Given the description of an element on the screen output the (x, y) to click on. 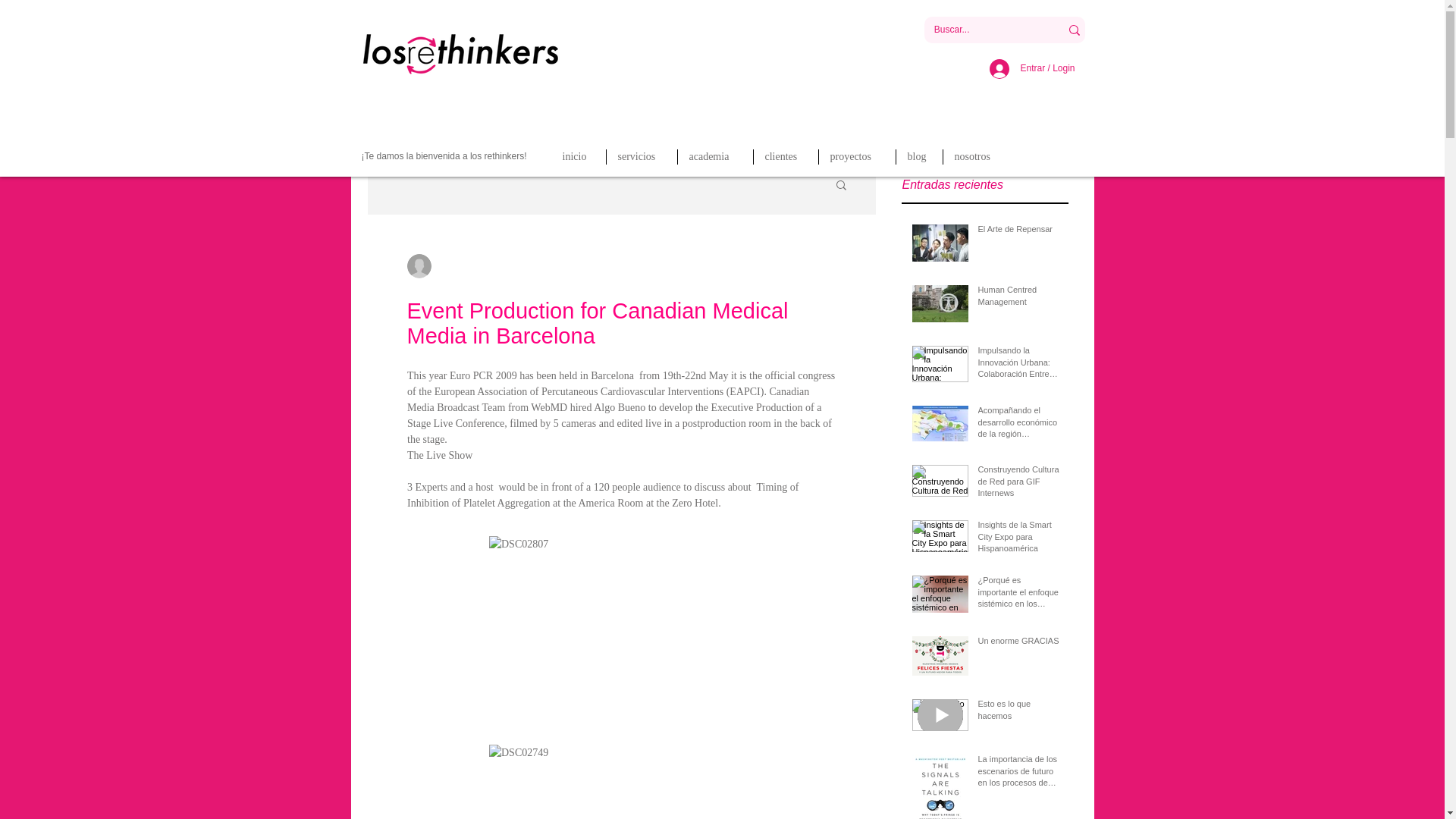
servicios (642, 156)
proyectos (856, 156)
Human Centred Management (1018, 298)
nosotros (977, 156)
El Arte de Repensar (1018, 231)
blog (919, 156)
academia (715, 156)
Construyendo Cultura de Red para GIF Internews (1018, 484)
inicio (577, 156)
clientes (786, 156)
